Given the description of an element on the screen output the (x, y) to click on. 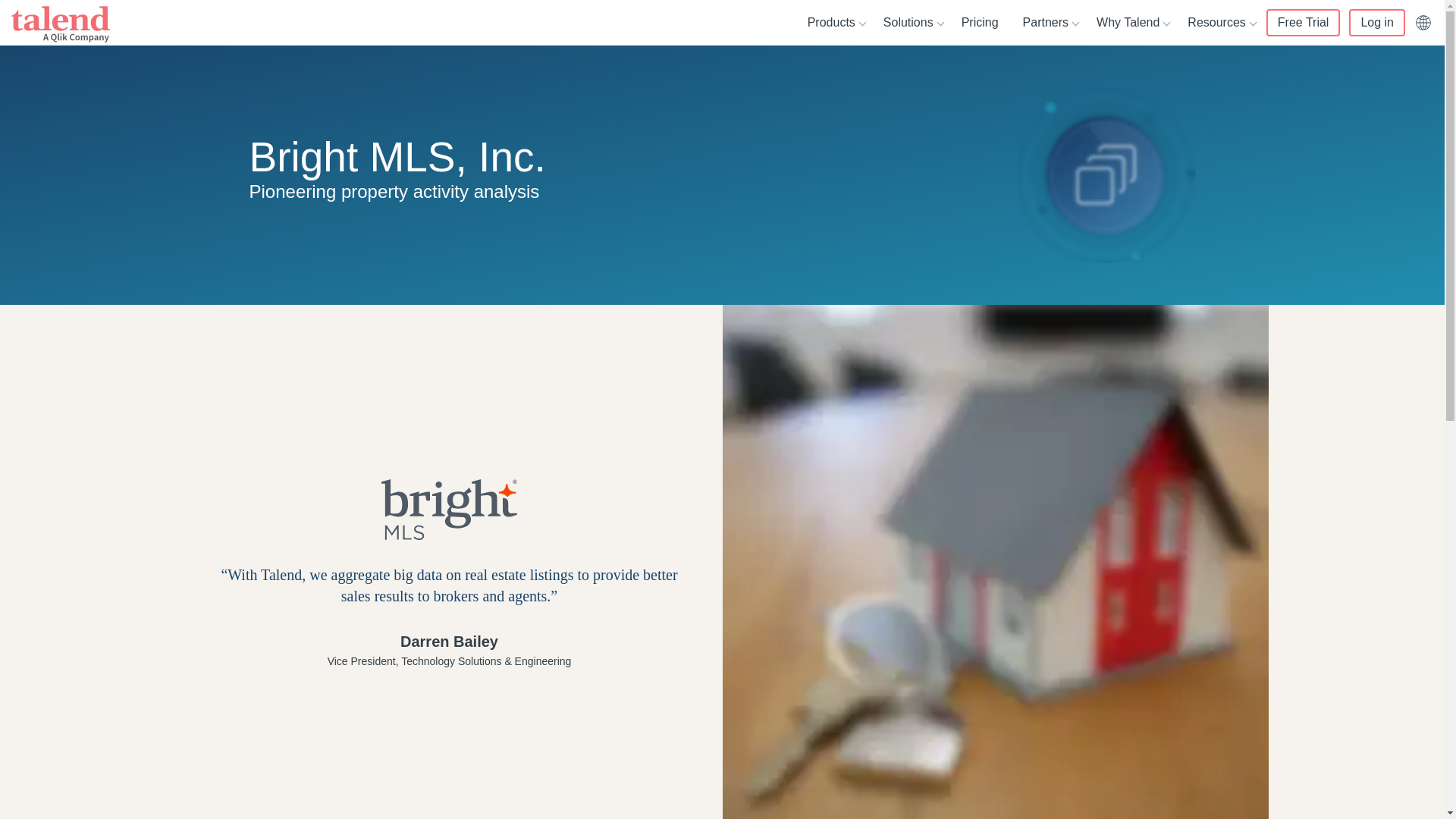
Products (832, 22)
Partners (1047, 22)
Why Talend (1129, 22)
Pricing (979, 22)
Solutions (909, 22)
